Given the description of an element on the screen output the (x, y) to click on. 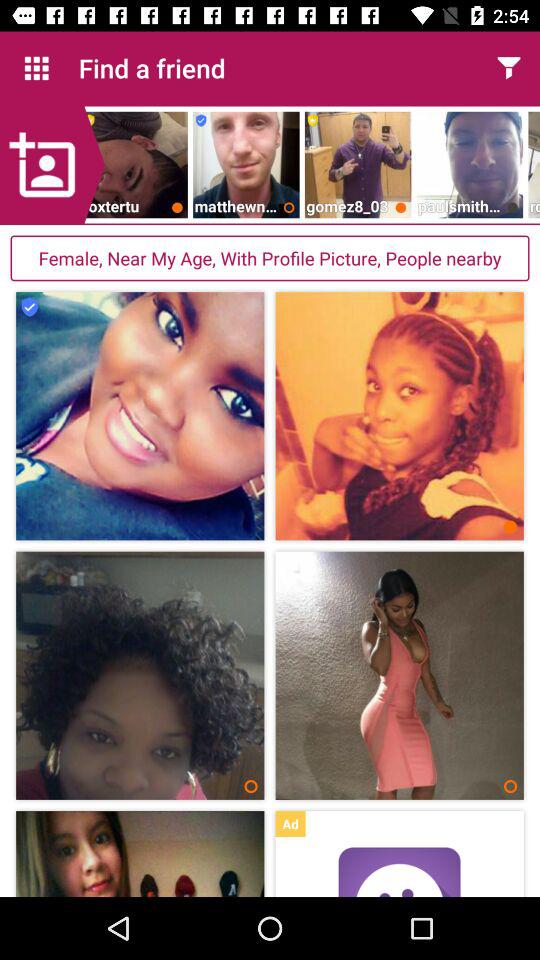
choose the item next to find a friend app (508, 67)
